Given the description of an element on the screen output the (x, y) to click on. 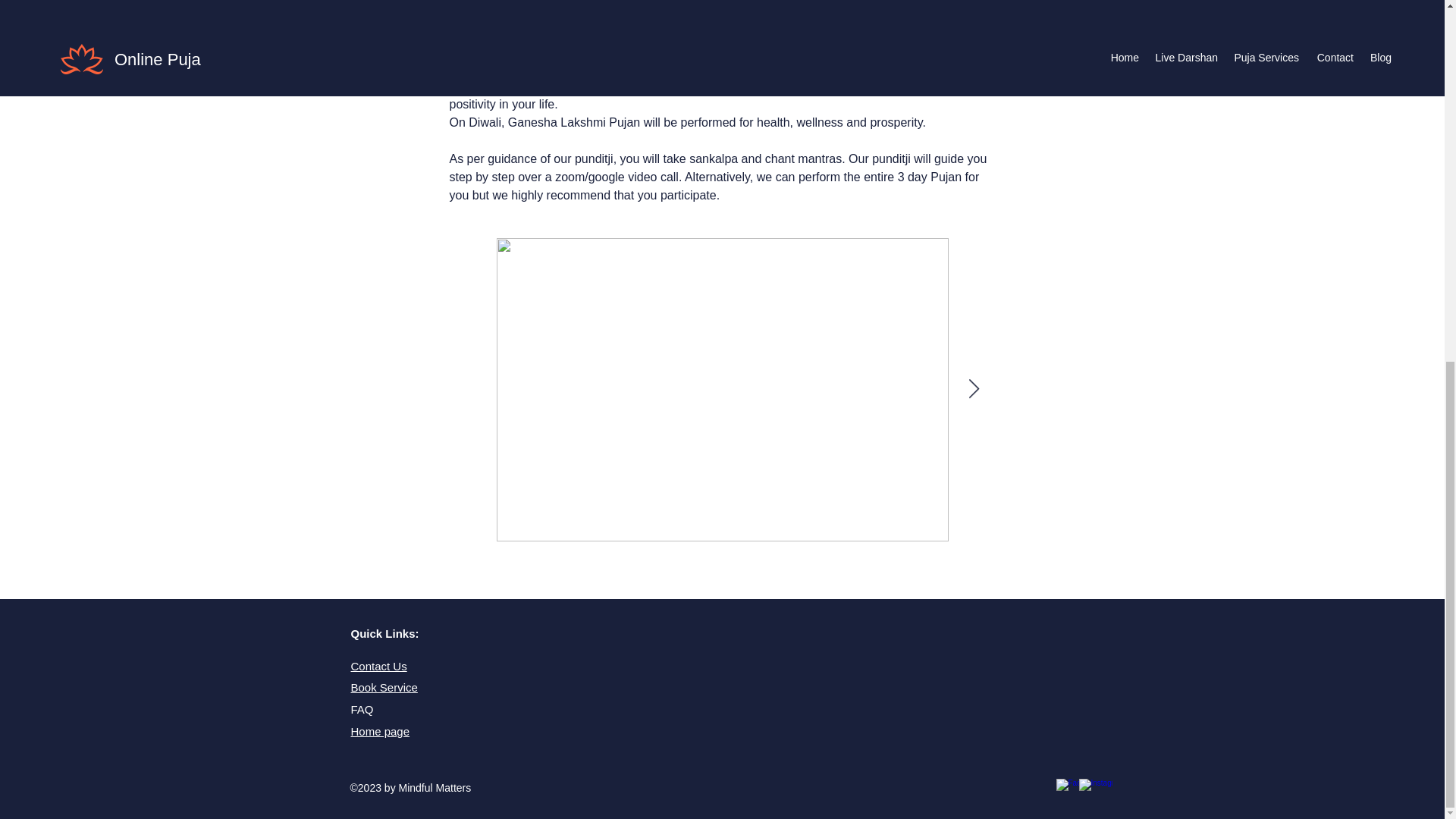
Book Service (383, 686)
Contact Us (378, 666)
Home page (379, 730)
